Given the description of an element on the screen output the (x, y) to click on. 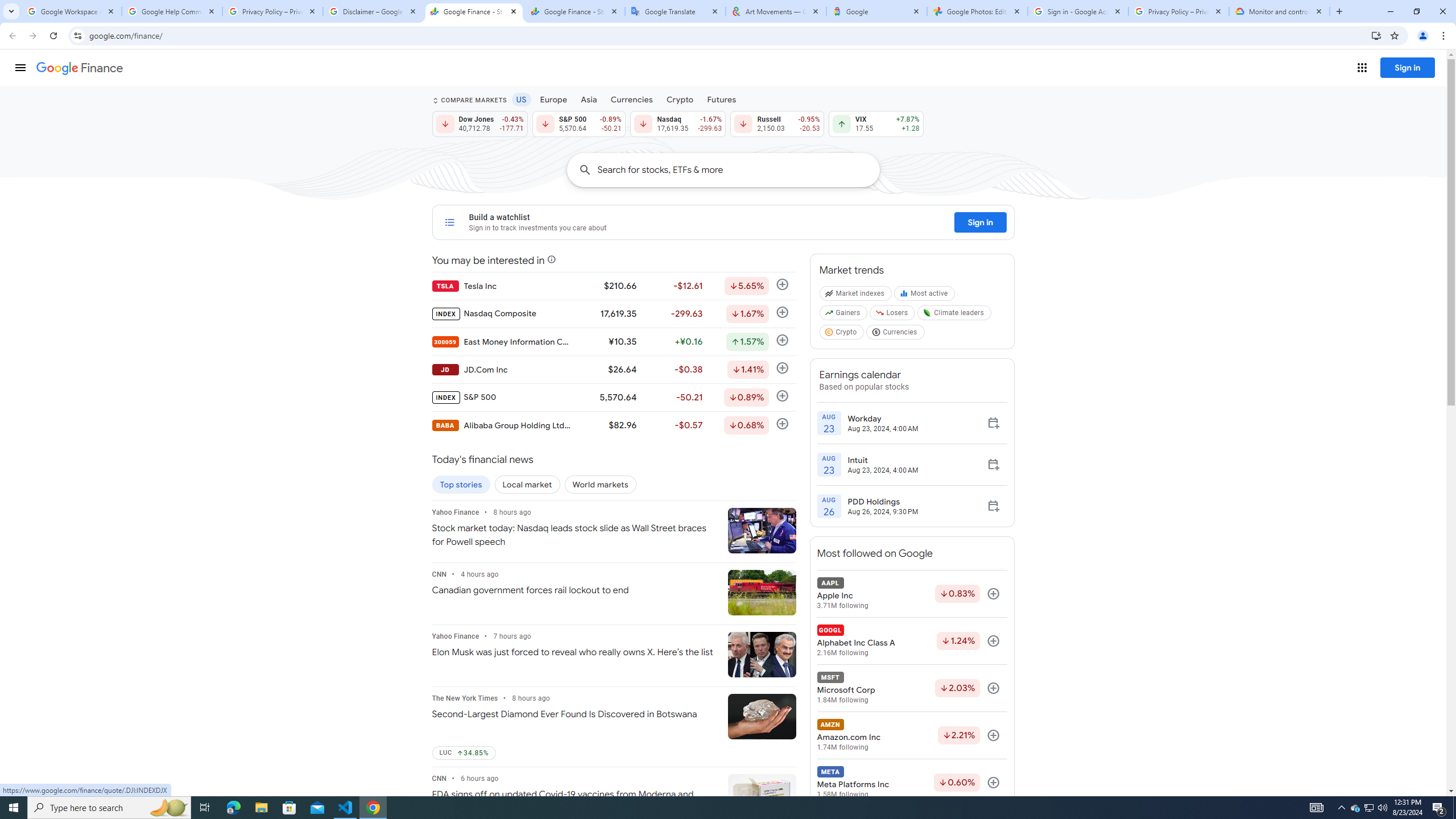
Browse (288, 321)
Back (59, 54)
Info (59, 318)
Export (59, 536)
Add a Place (288, 285)
